Given the description of an element on the screen output the (x, y) to click on. 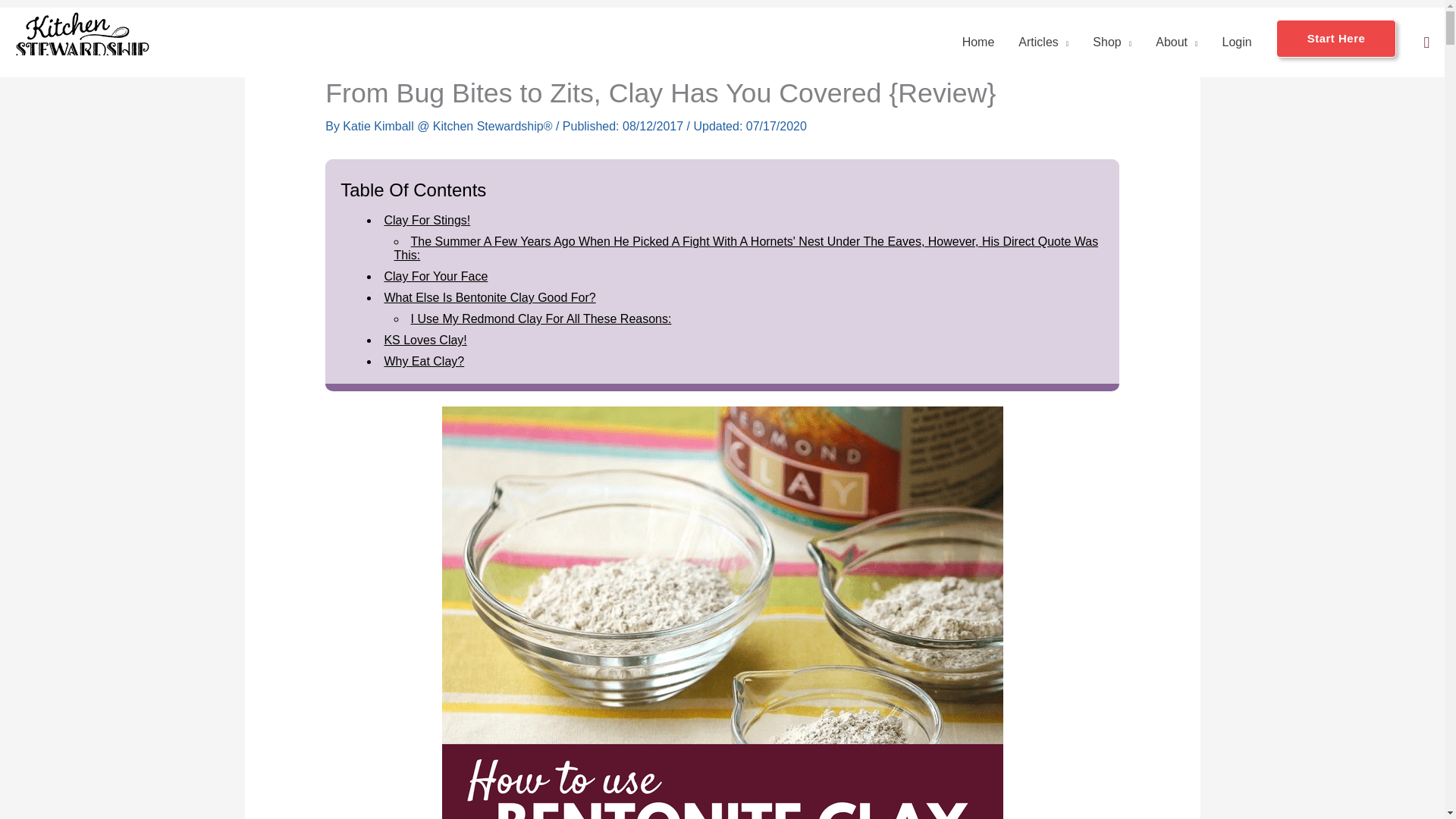
Articles (1043, 41)
Search (1426, 42)
Shop (1111, 41)
Home (978, 41)
Login (1236, 41)
Start Here (1336, 41)
About (1175, 41)
